Given the description of an element on the screen output the (x, y) to click on. 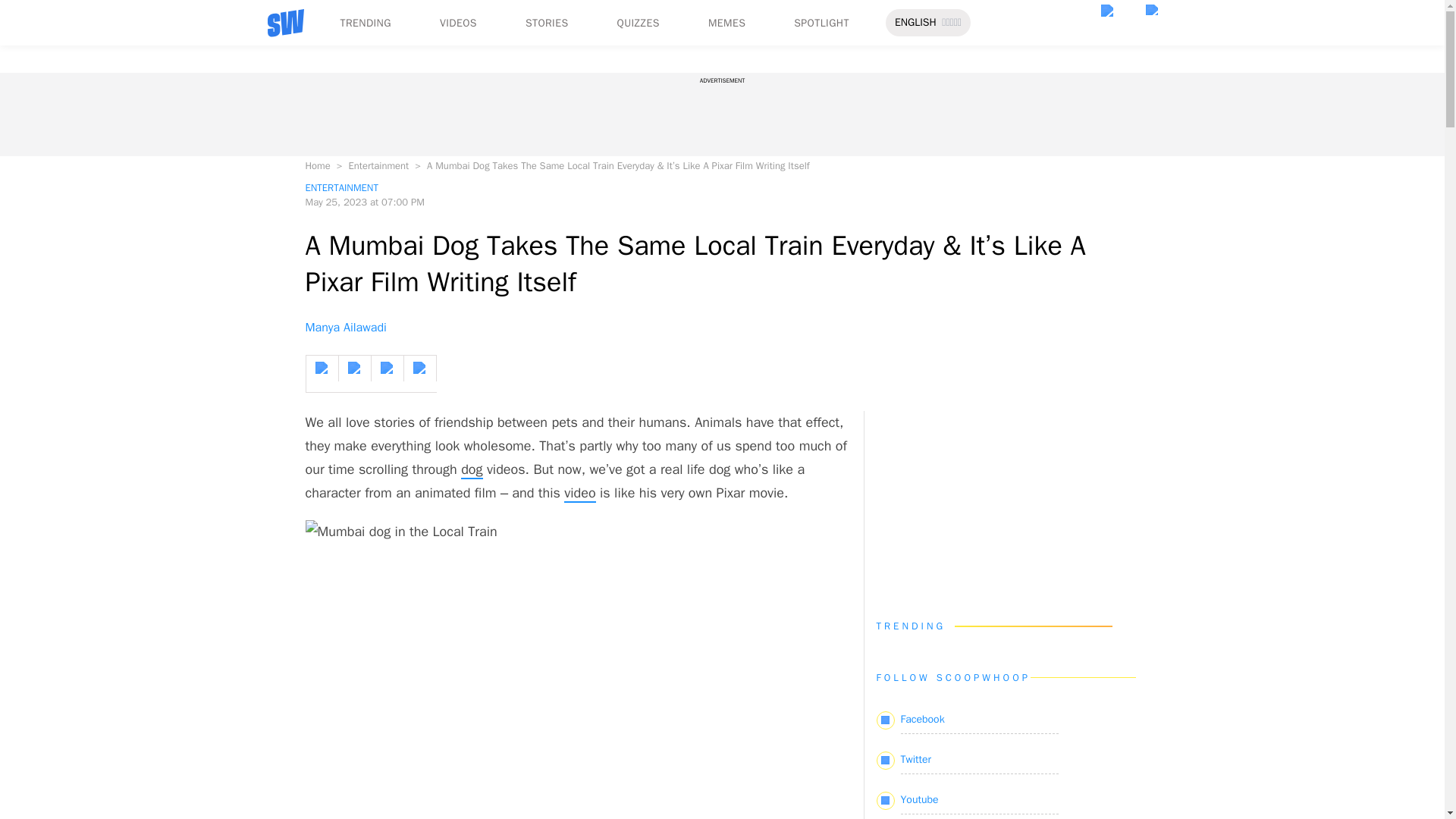
Bigg Boss (60, 178)
Memes (53, 110)
Spotlight (58, 123)
Tech (47, 137)
Women (55, 56)
Food (48, 29)
LGBTQIA (62, 69)
Stories (52, 82)
Culture (54, 110)
Sports (51, 124)
